Given the description of an element on the screen output the (x, y) to click on. 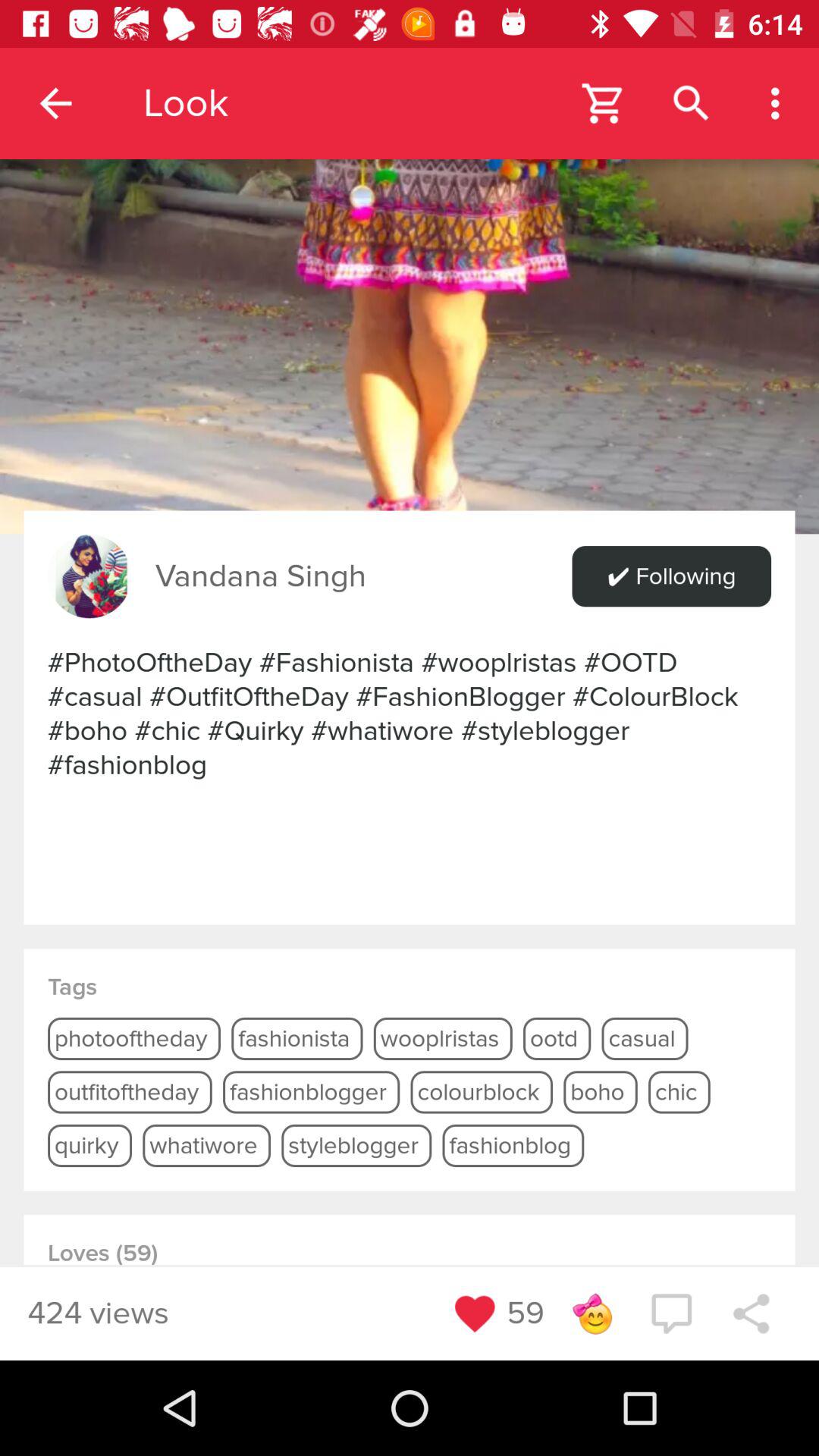
see profile (89, 576)
